Given the description of an element on the screen output the (x, y) to click on. 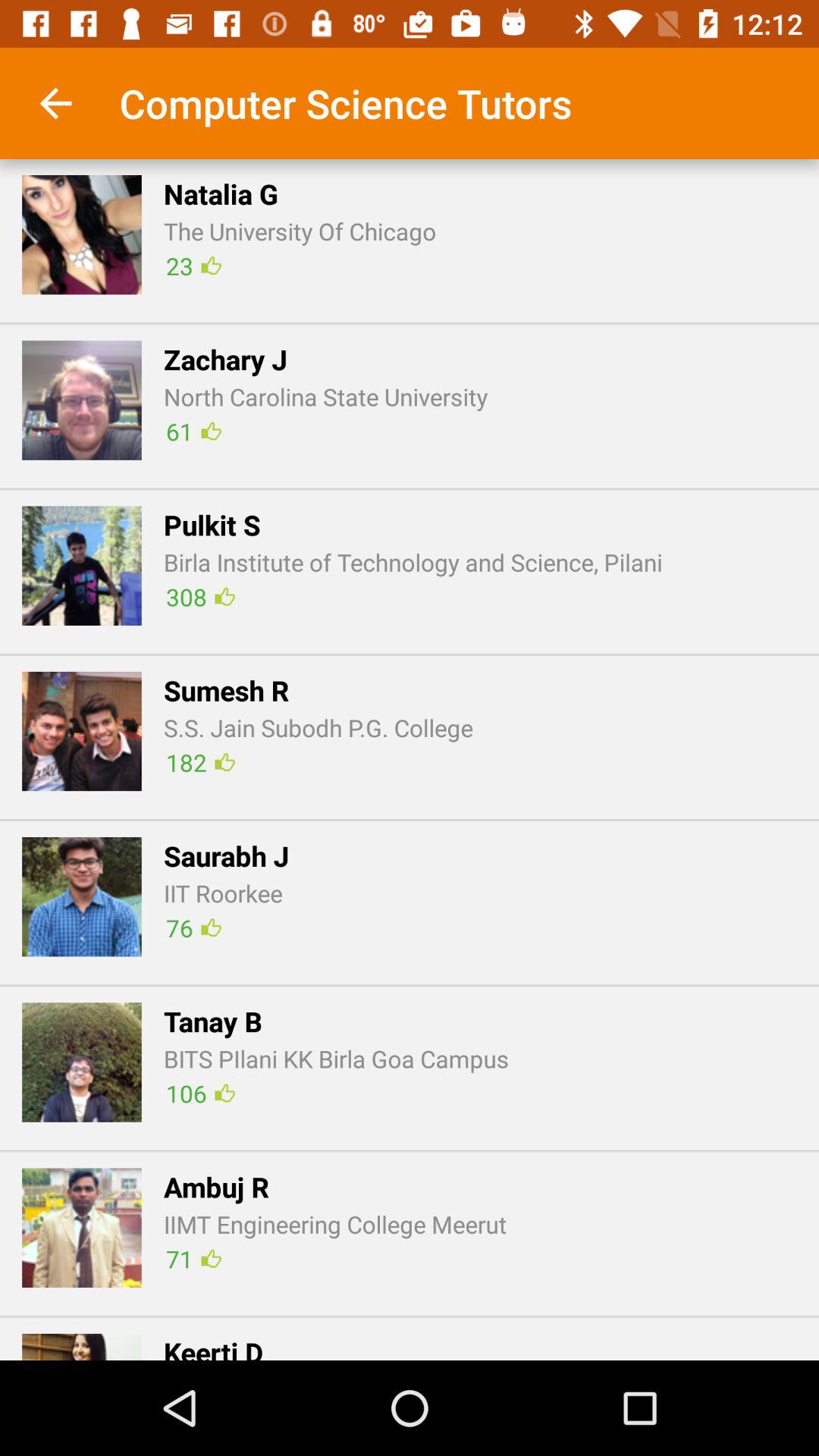
launch the iimt engineering college icon (334, 1224)
